Given the description of an element on the screen output the (x, y) to click on. 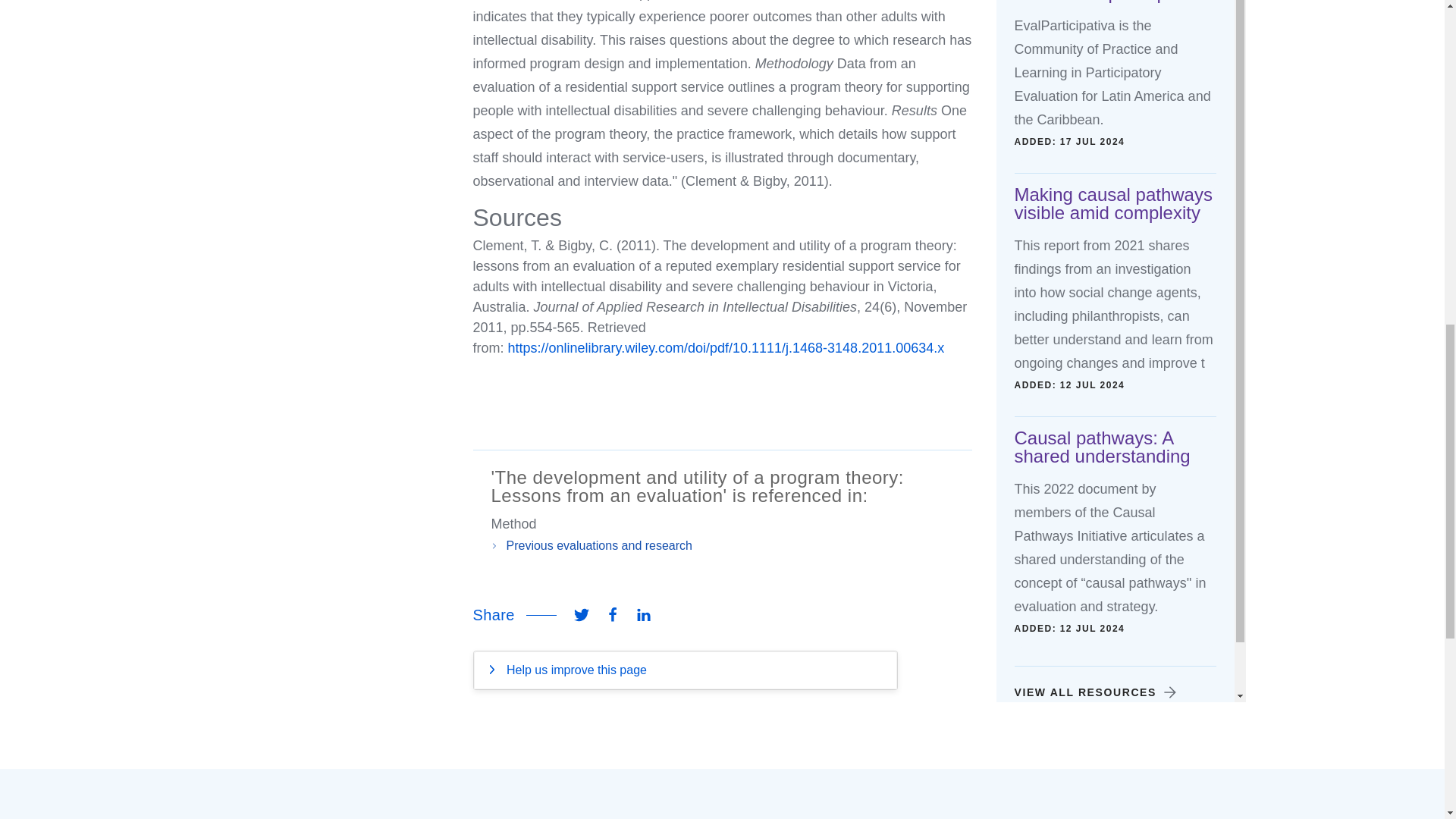
Share this via Facebook (612, 614)
Share this via LinkedIn (644, 614)
Share this via Twitter (581, 614)
